Given the description of an element on the screen output the (x, y) to click on. 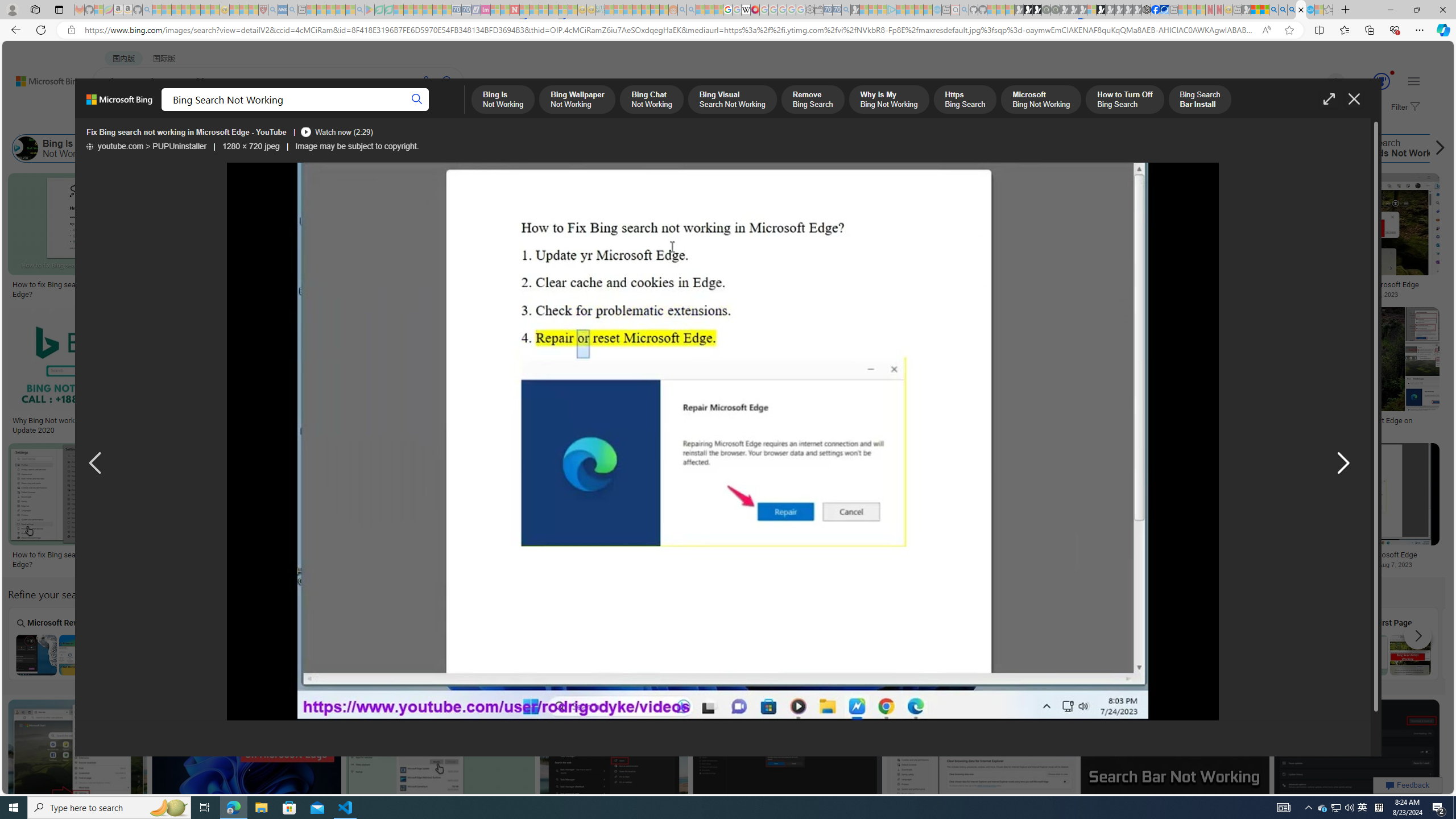
Fix Bing search not working in Microsoft Edge (1350, 554)
Bing Search Box Not Working Box (262, 643)
Points (467, 643)
Web For (671, 643)
Bing Work Search Not Working Work (1286, 643)
Bing Exact Search Not Working Exact (978, 643)
White Bing Cherries (804, 280)
Bing Search Engine Not Working Engine (1184, 643)
How to Turn Off Bing Search (921, 148)
google - Search - Sleeping (359, 9)
